Given the description of an element on the screen output the (x, y) to click on. 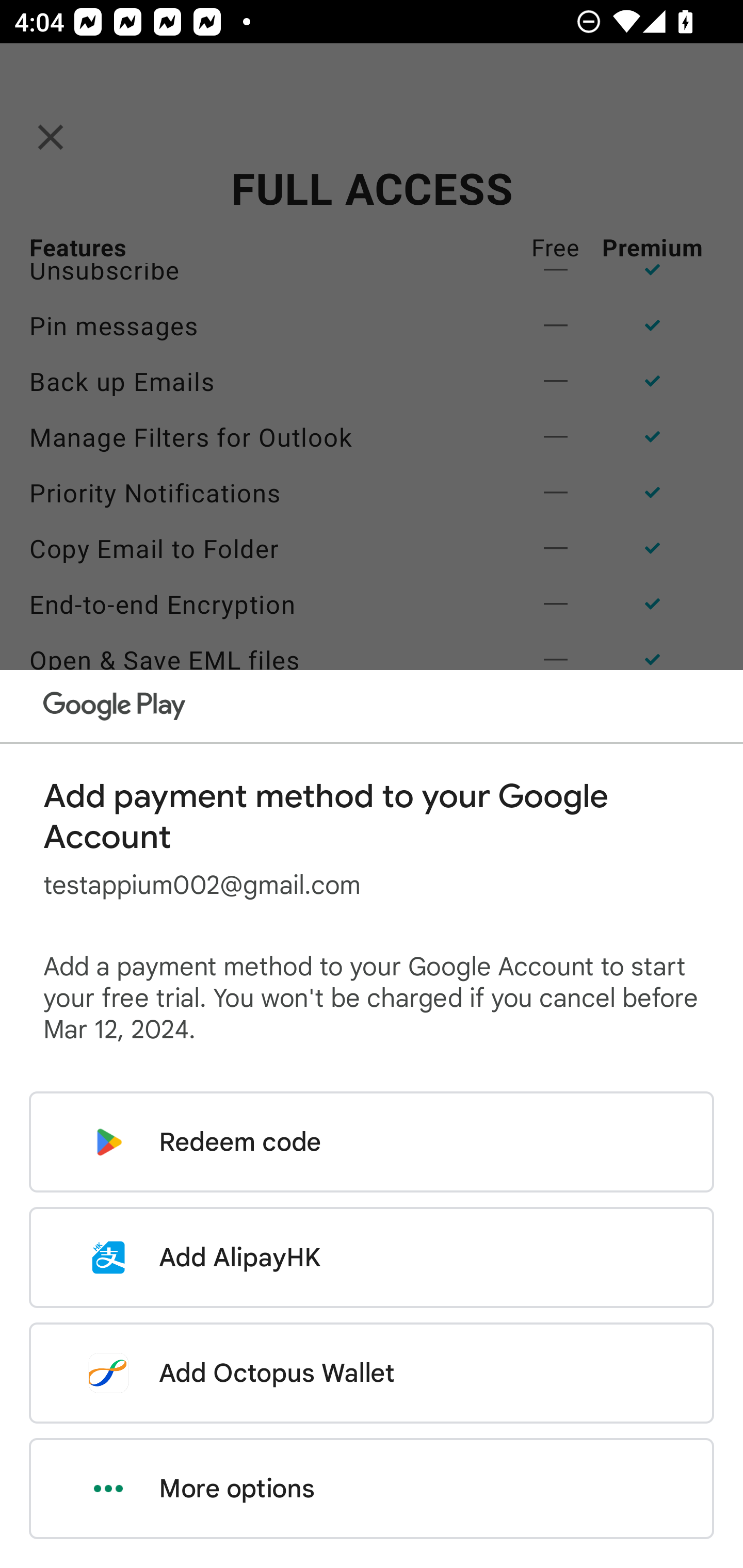
Redeem code (371, 1142)
Add AlipayHK (371, 1257)
Add Octopus Wallet (371, 1372)
More options (371, 1488)
